Given the description of an element on the screen output the (x, y) to click on. 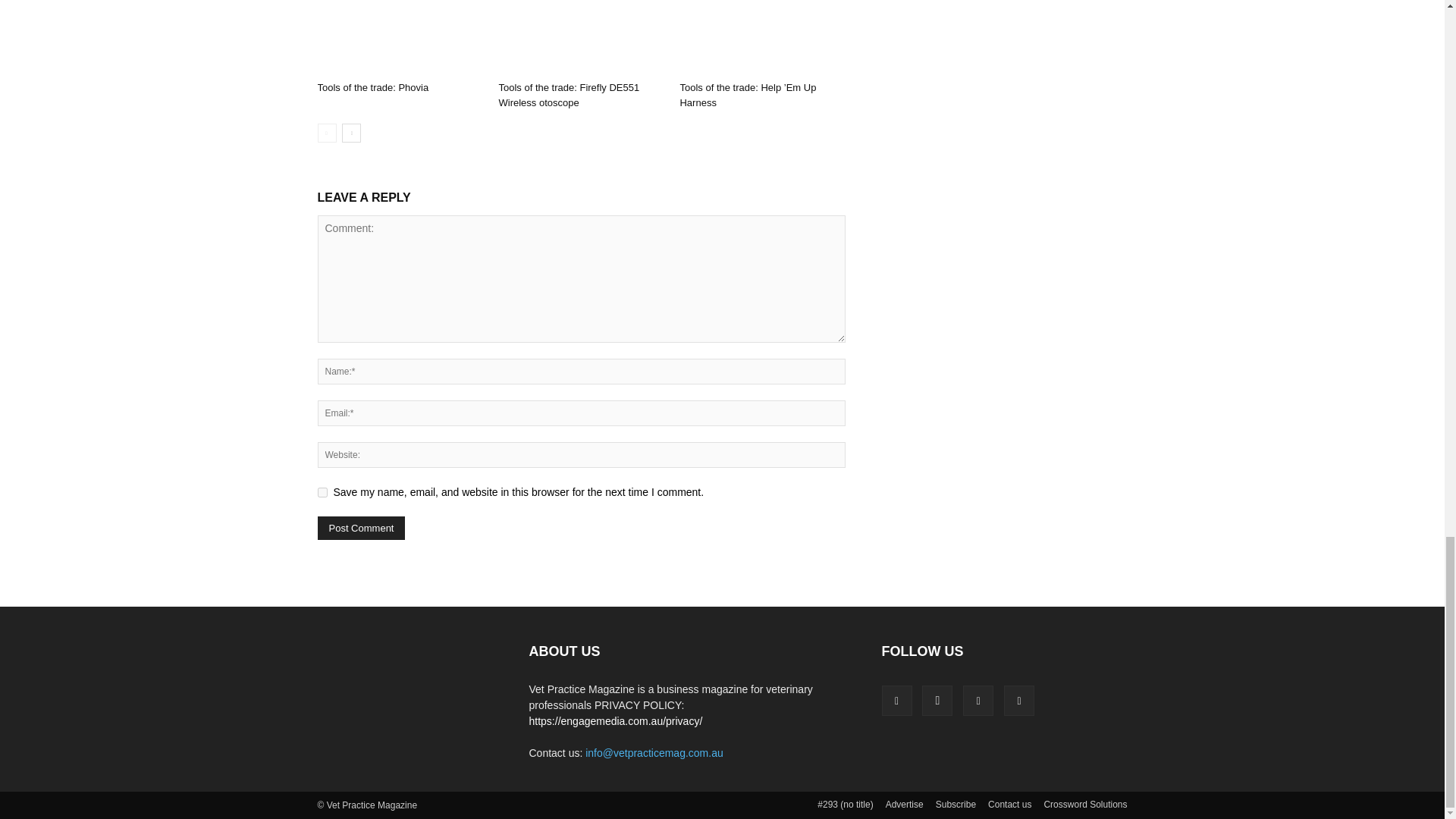
Tools of the trade: Phovia (399, 37)
Post Comment (360, 527)
yes (321, 492)
